Given the description of an element on the screen output the (x, y) to click on. 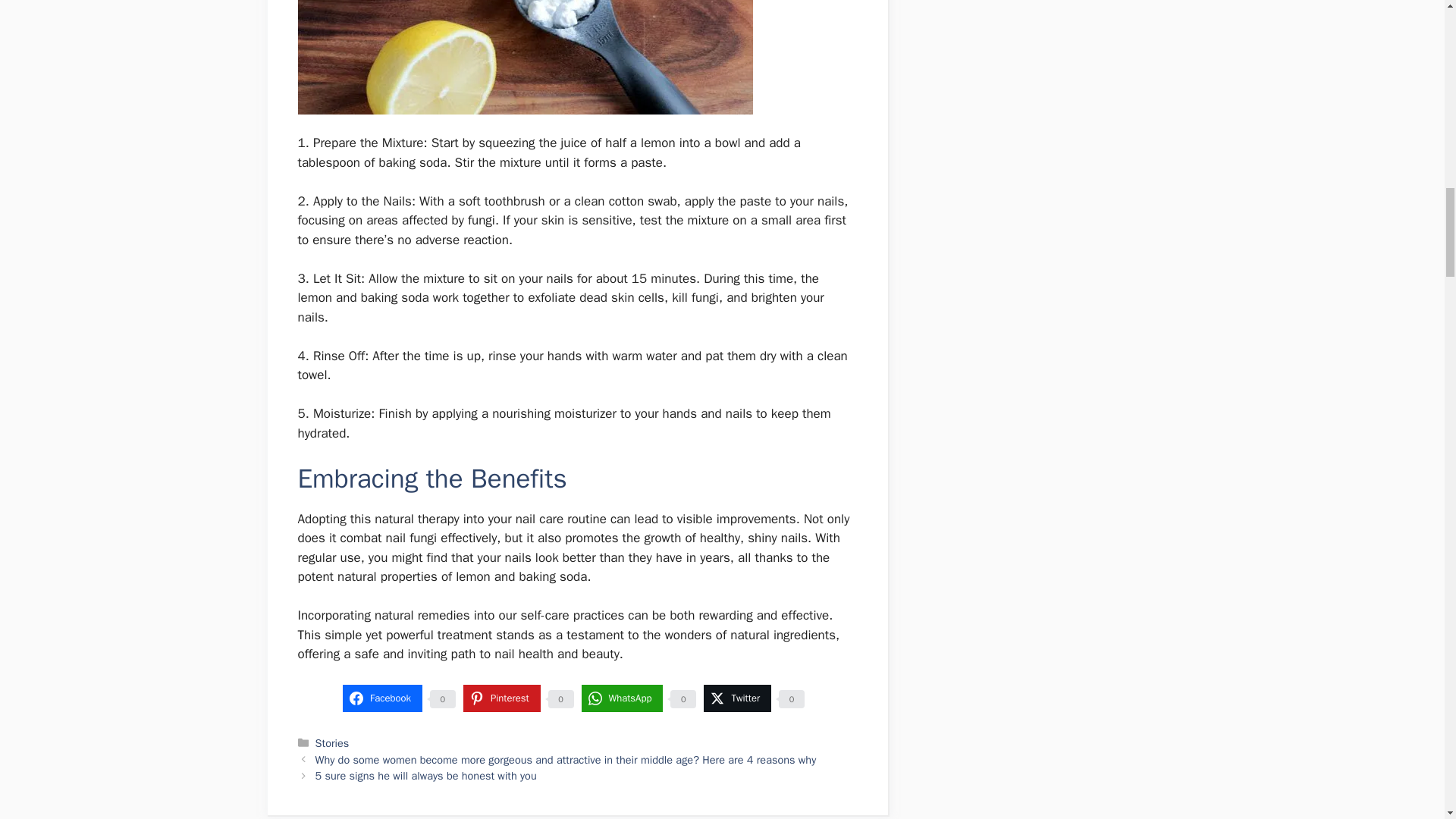
5 sure signs he will always be honest with you (426, 775)
Stories (332, 743)
WhatsApp (621, 697)
Twitter (737, 697)
Share on WhatsApp (621, 697)
Facebook (382, 697)
Share on Facebook (382, 697)
Pinterest (501, 697)
Share on Pinterest (501, 697)
Share on Twitter (737, 697)
